Given the description of an element on the screen output the (x, y) to click on. 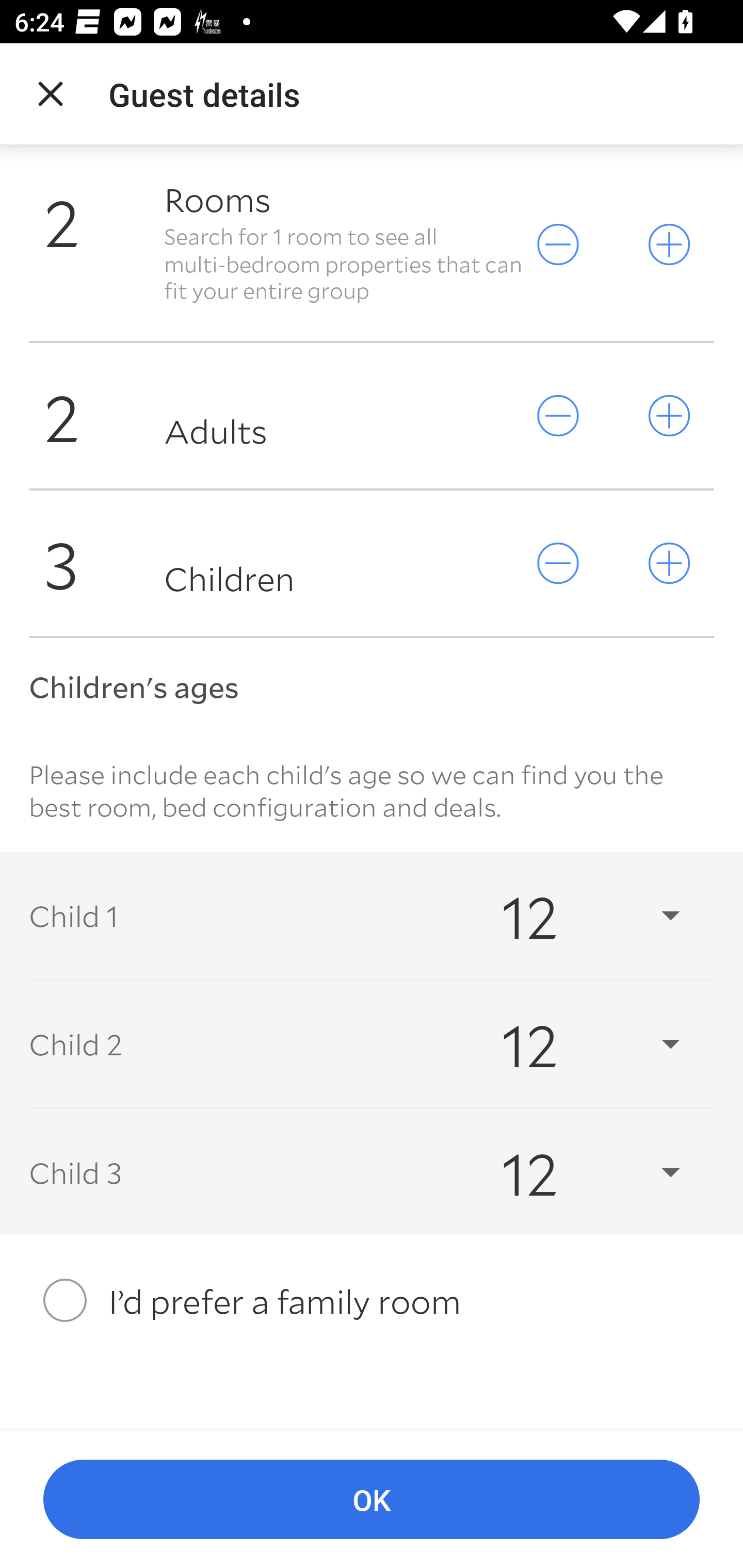
12 (573, 914)
12 (573, 1043)
12 (573, 1172)
I’d prefer a family room (371, 1299)
OK (371, 1499)
